Given the description of an element on the screen output the (x, y) to click on. 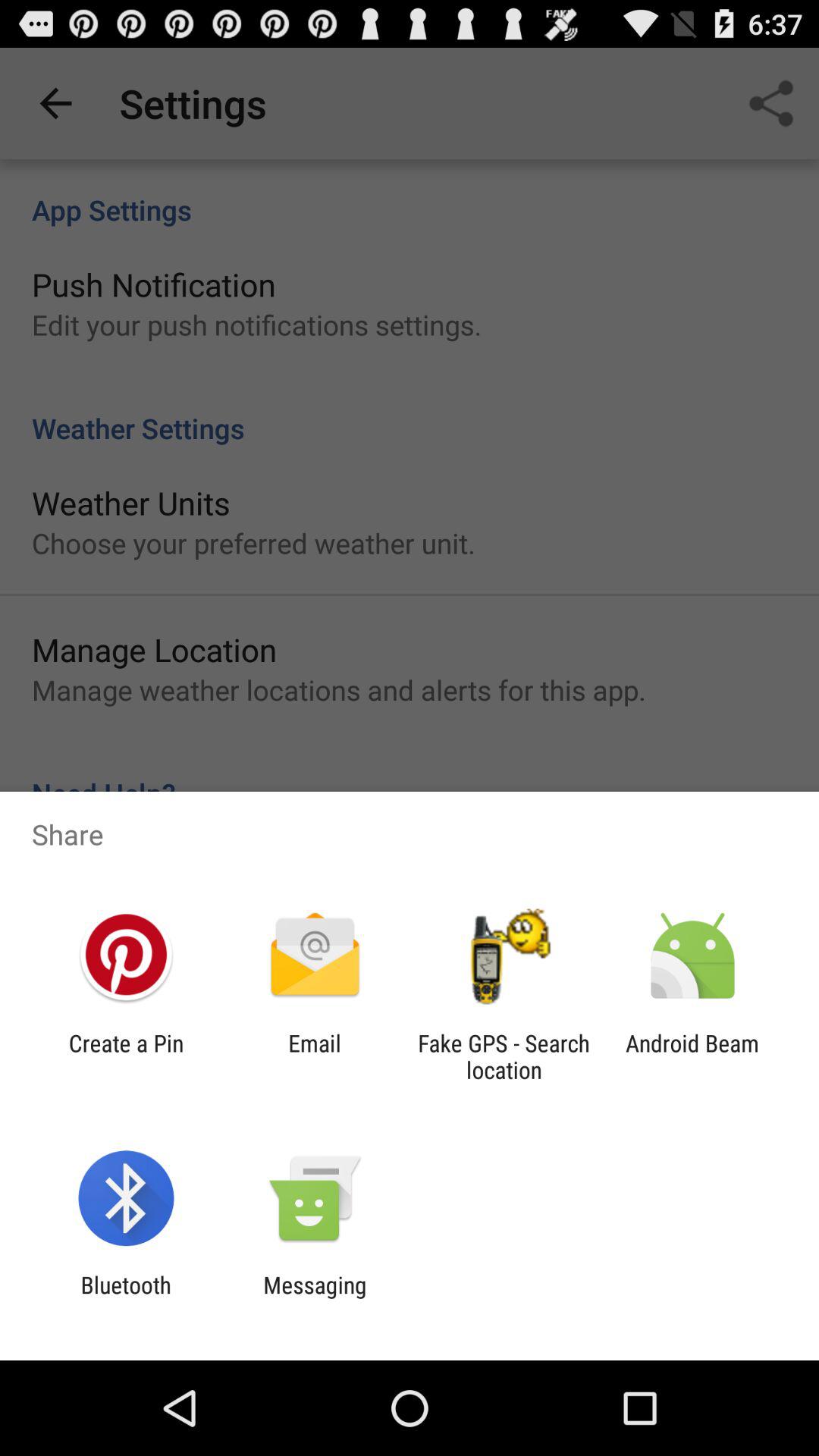
press the icon to the left of messaging app (125, 1298)
